Given the description of an element on the screen output the (x, y) to click on. 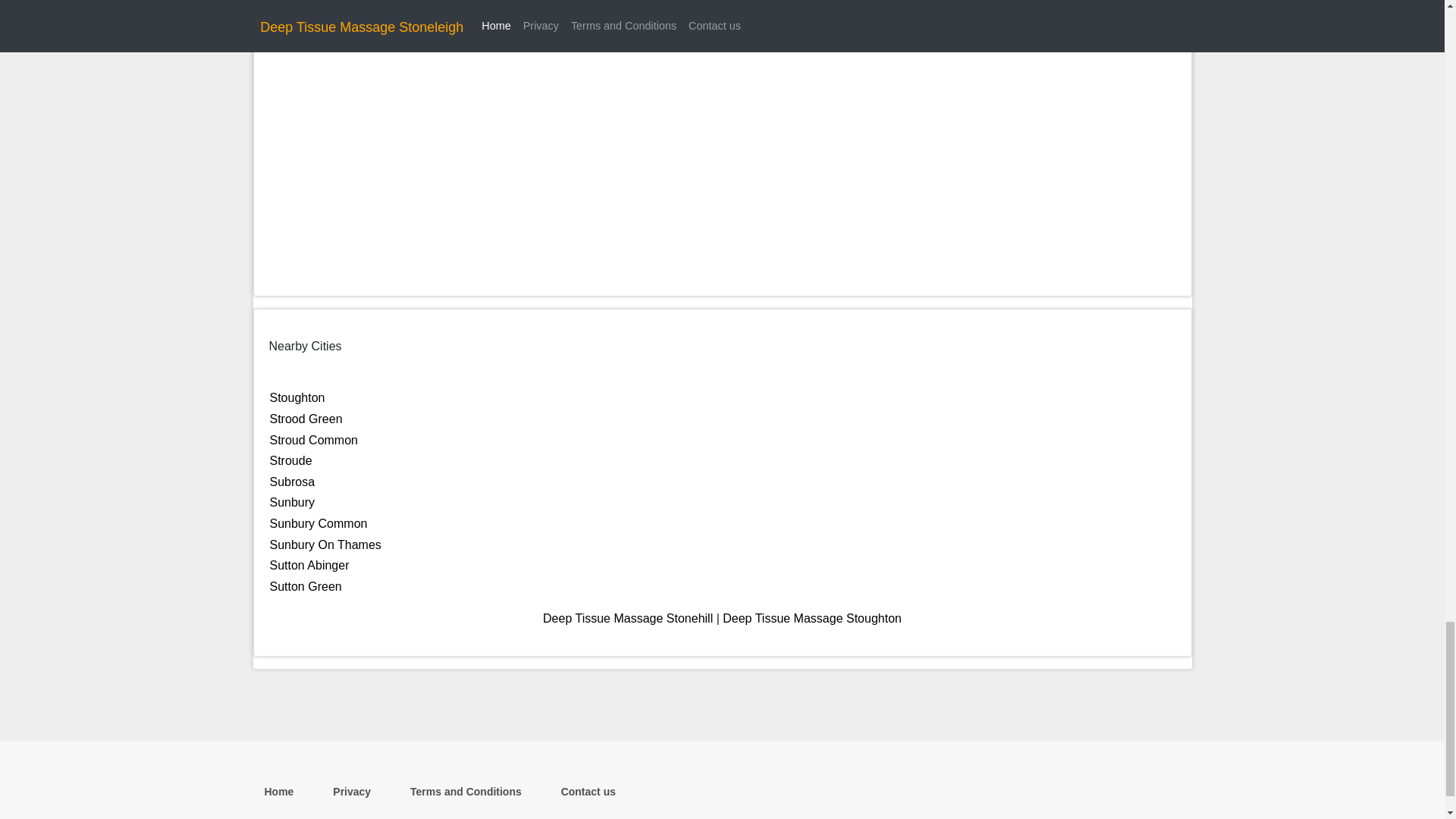
Sutton Abinger (309, 564)
Deep Tissue Massage Stonehill (628, 617)
Stoughton (296, 397)
Stroude (291, 460)
Stroud Common (313, 440)
Subrosa (292, 481)
Sutton Green (305, 585)
Sunbury Common (318, 522)
Sunbury On Thames (325, 544)
Deep Tissue Massage Stoughton (811, 617)
